Given the description of an element on the screen output the (x, y) to click on. 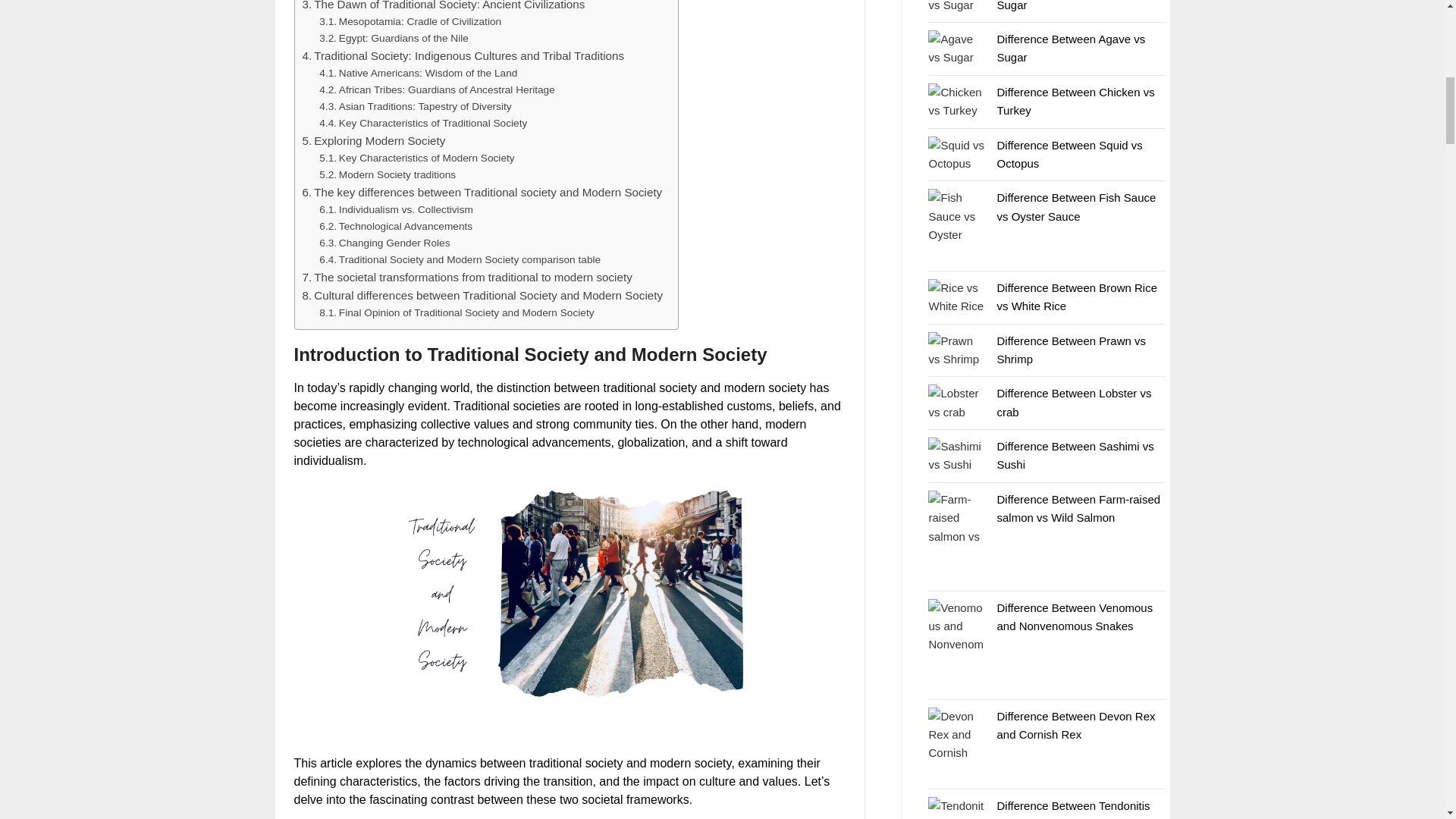
Key Characteristics of Traditional Society (422, 123)
Technological Advancements (394, 226)
Egypt: Guardians of the Nile (393, 38)
Changing Gender Roles (383, 243)
Key Characteristics of Modern Society (415, 158)
Asian Traditions: Tapestry of Diversity (414, 106)
Traditional Society and Modern Society comparison table (458, 259)
African Tribes: Guardians of Ancestral Heritage (436, 89)
Native Americans: Wisdom of the Land (417, 73)
